Given the description of an element on the screen output the (x, y) to click on. 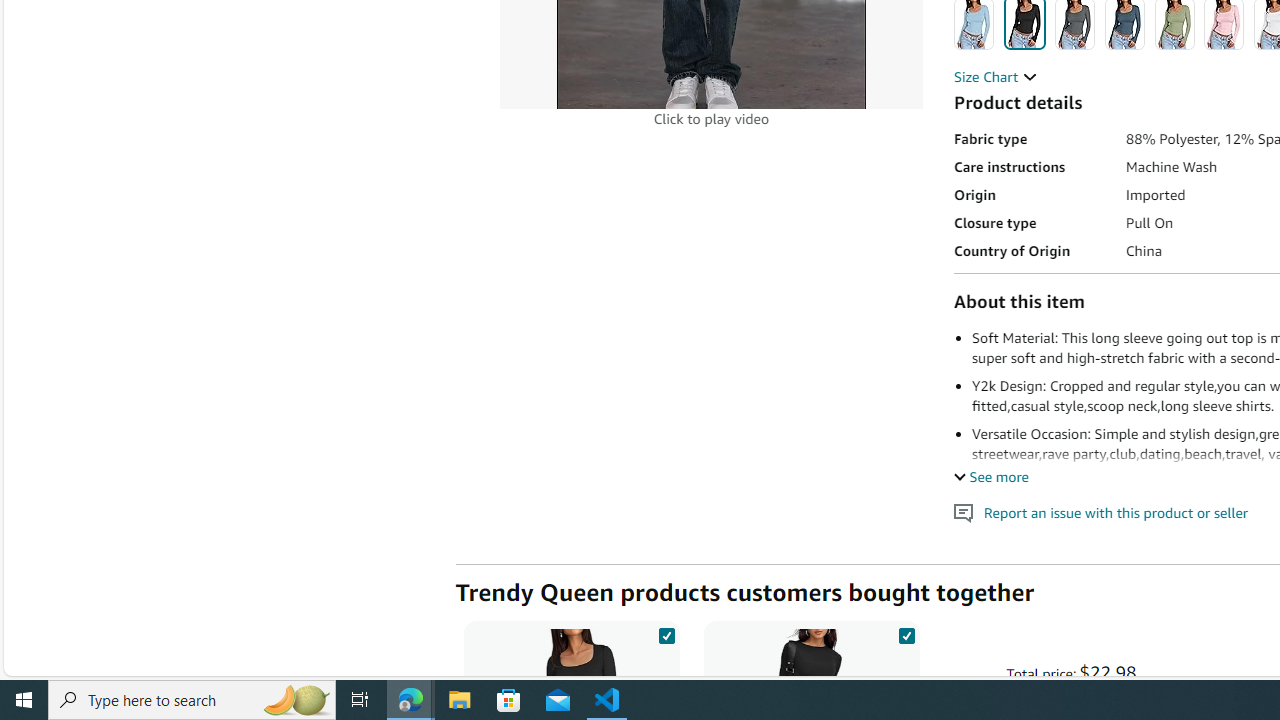
Size Chart  (995, 76)
AutomationID: thematicBundleCheck-2 (906, 632)
AutomationID: thematicBundleCheck-1 (665, 632)
Report an issue with this product or seller (963, 512)
